Given the description of an element on the screen output the (x, y) to click on. 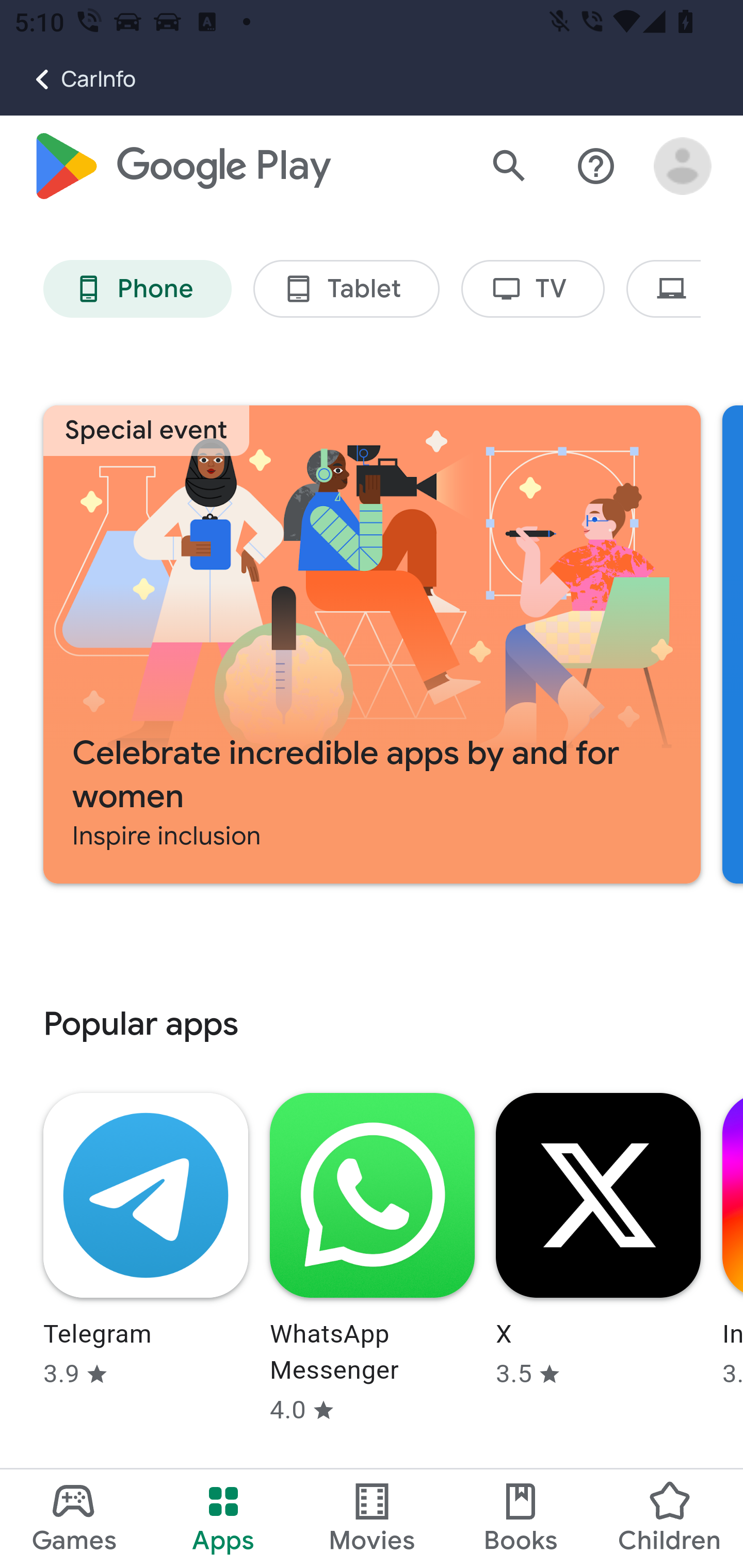
CarInfo (67, 79)
Google Play logo (180, 166)
Search (508, 166)
Help centre (596, 166)
Open account menu (682, 166)
Phone (137, 289)
Tablet (346, 289)
TV (533, 289)
Chromebook (663, 289)
Games (74, 1518)
Apps (222, 1518)
Movies (372, 1518)
Books (520, 1518)
Children (668, 1518)
